Given the description of an element on the screen output the (x, y) to click on. 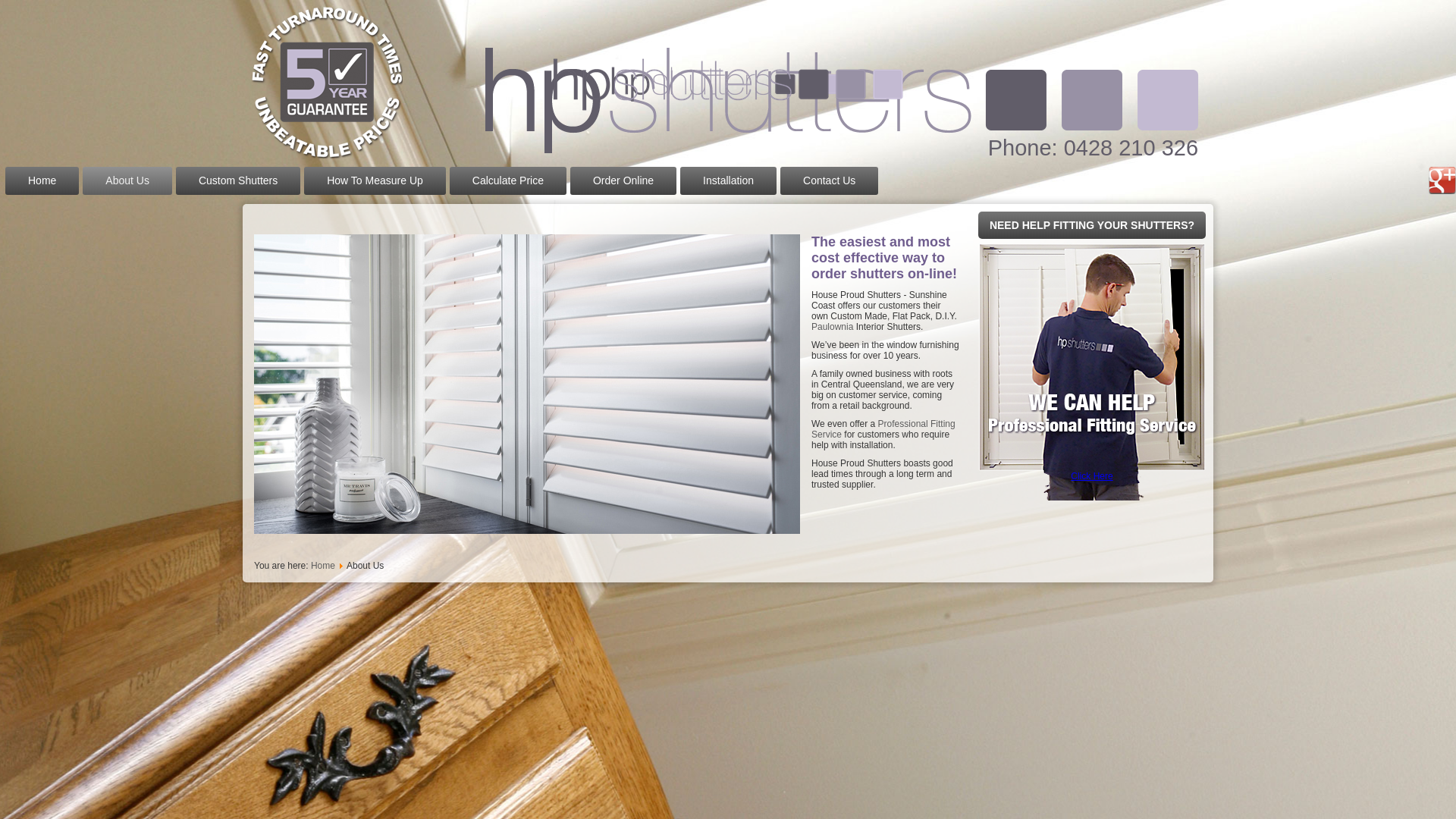
House Proud Shutters Element type: hover (606, 62)
About Us Element type: text (127, 180)
Contact Us Element type: text (829, 180)
House Proud Shutters Element type: hover (841, 98)
House Proud Shutters Element type: hover (436, 35)
Professional Fitting Service Element type: text (883, 428)
Installation Element type: text (728, 180)
House Proud Shutters Element type: hover (727, 83)
House Proud Shutters Element type: hover (326, 82)
Home Element type: text (41, 180)
How To Measure Up Element type: text (374, 180)
Home Element type: text (322, 565)
Phone: 0428 210 326 Element type: text (1093, 147)
Order Online Element type: text (623, 180)
Paulownia Element type: text (832, 326)
House Proud Shutters Element type: hover (545, 7)
Click Here Element type: text (1091, 475)
Calculate Price Element type: text (507, 180)
House Proud Shutters Element type: hover (242, 7)
Custom Shutters Element type: text (237, 180)
House Proud Shutters Element type: hover (728, 82)
